Given the description of an element on the screen output the (x, y) to click on. 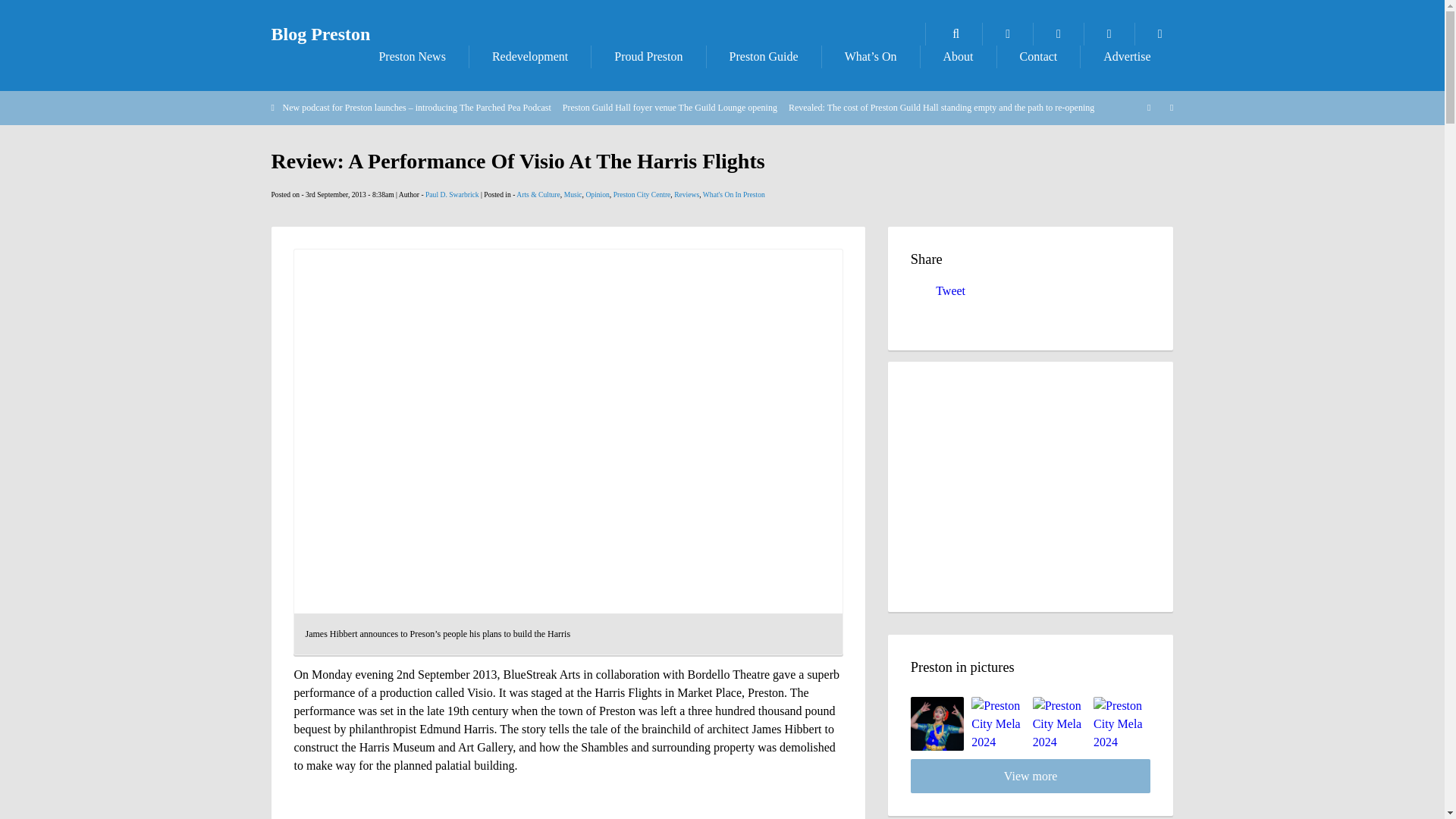
Tweet (950, 290)
Blog Preston on Facebook (1058, 33)
Advertise (1126, 56)
Blog Preston on Instagram (1160, 33)
Latest Preston news (411, 56)
About (957, 56)
Proud Preston (647, 56)
Music (573, 194)
Photos from around Preston (1007, 33)
Preston Guild Hall foyer venue The Guild Lounge opening (669, 107)
Redevelopment (529, 56)
About Blog Preston (957, 56)
What'S On In Preston (734, 194)
Preston Guide (763, 56)
